Given the description of an element on the screen output the (x, y) to click on. 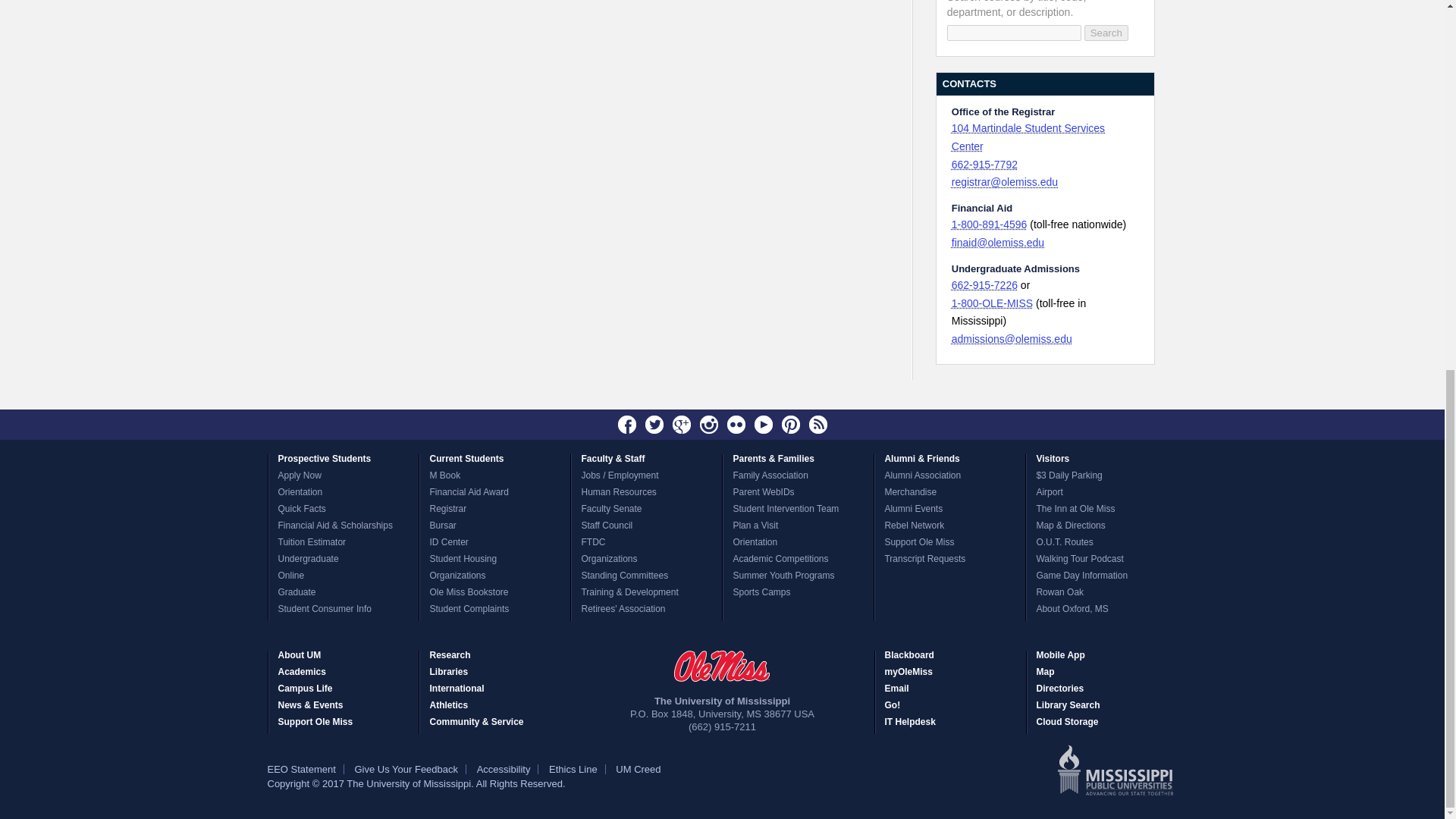
Flickr (735, 424)
Facebook (627, 424)
Search (1106, 32)
News Feed (818, 424)
Instagram (708, 424)
Pinterest (790, 424)
Twitter (654, 424)
Youtube (763, 424)
